Given the description of an element on the screen output the (x, y) to click on. 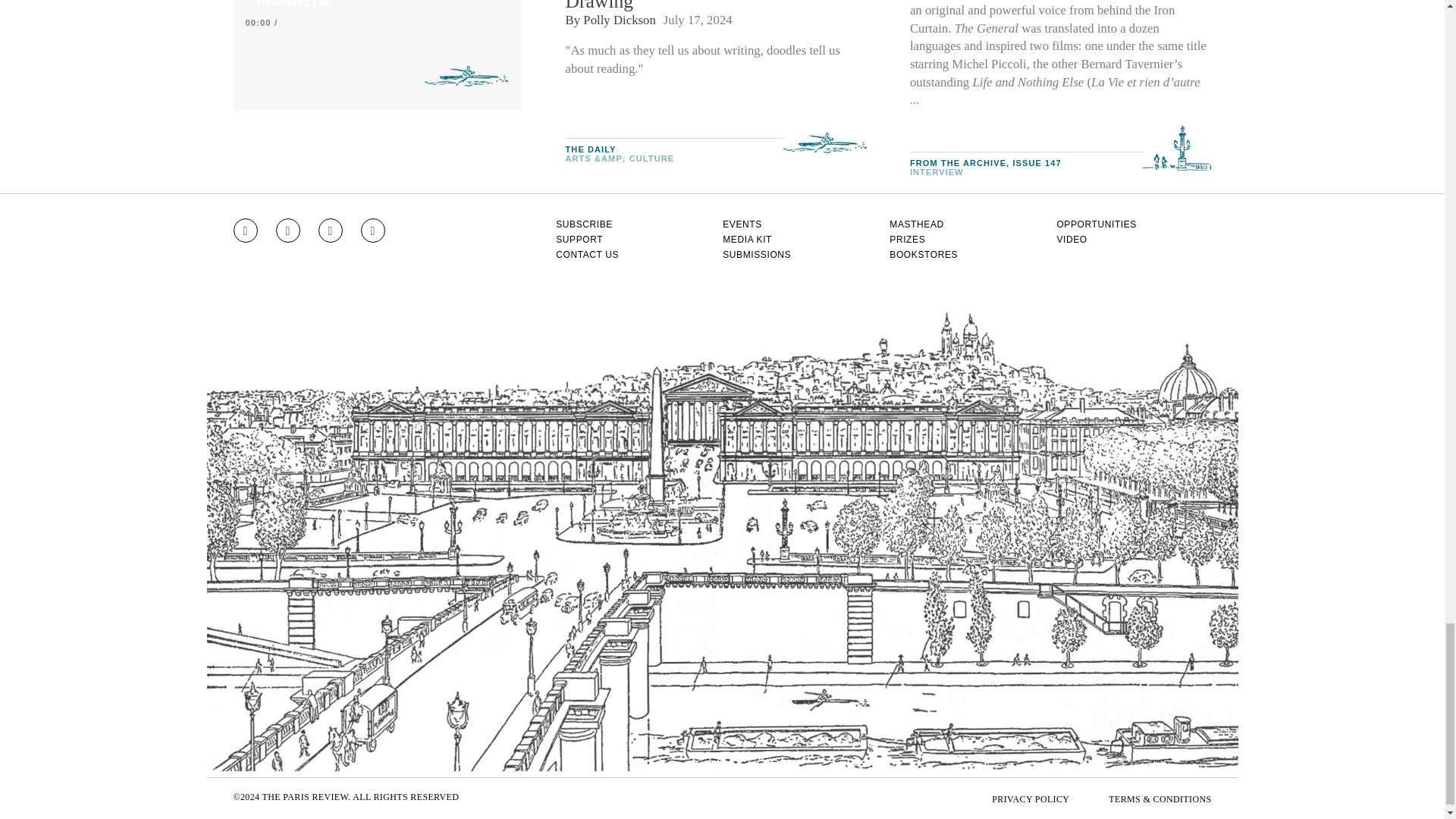
Go to Instagram feed (244, 230)
Go to RSS feed (373, 230)
Go to Twitter feed (330, 230)
Go to Facebook page (287, 230)
